Given the description of an element on the screen output the (x, y) to click on. 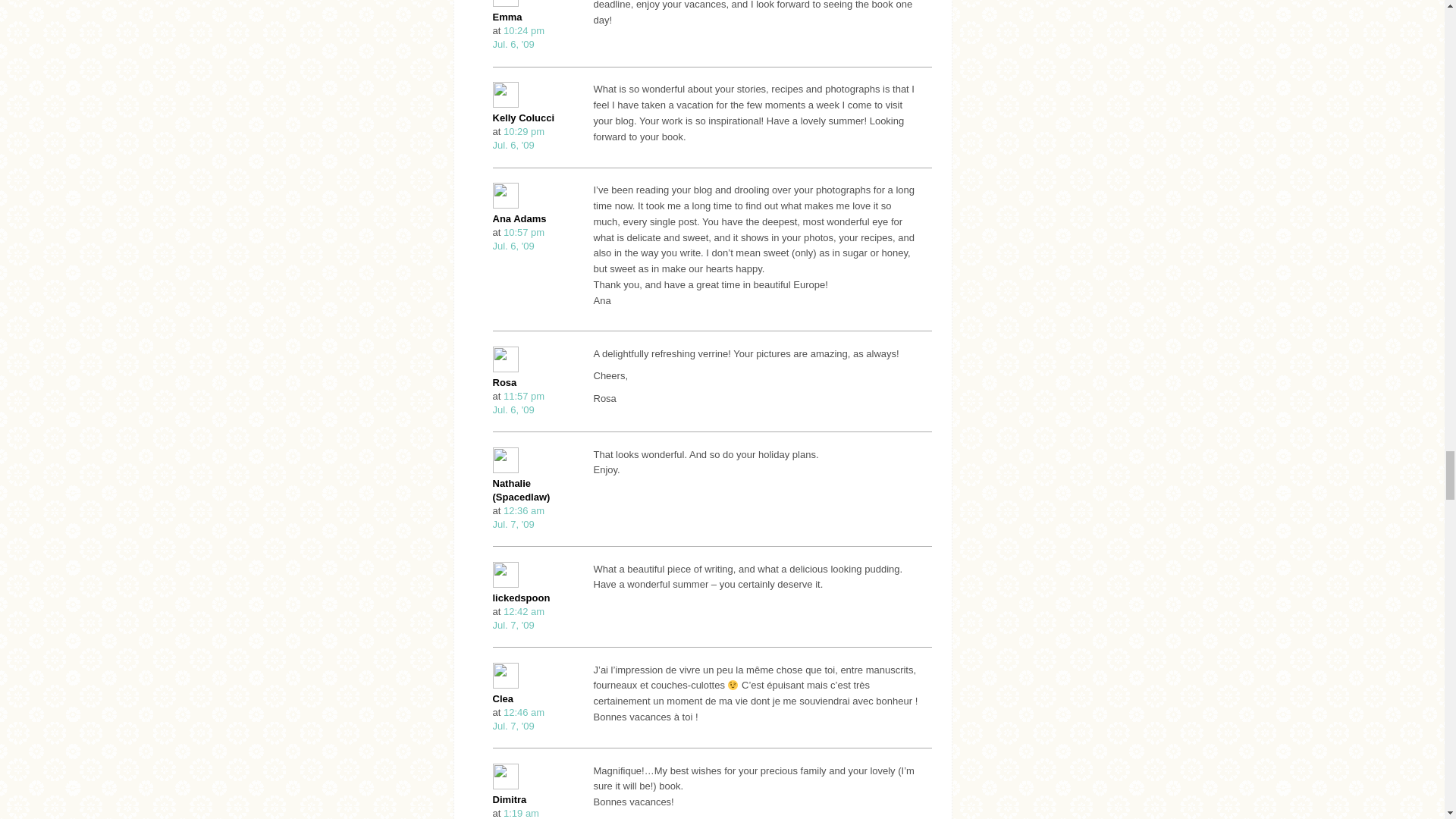
Emma (507, 16)
Kelly Colucci (518, 402)
Clea (523, 117)
Ana Adams (503, 698)
lickedspoon (518, 618)
Rosa (518, 37)
